Given the description of an element on the screen output the (x, y) to click on. 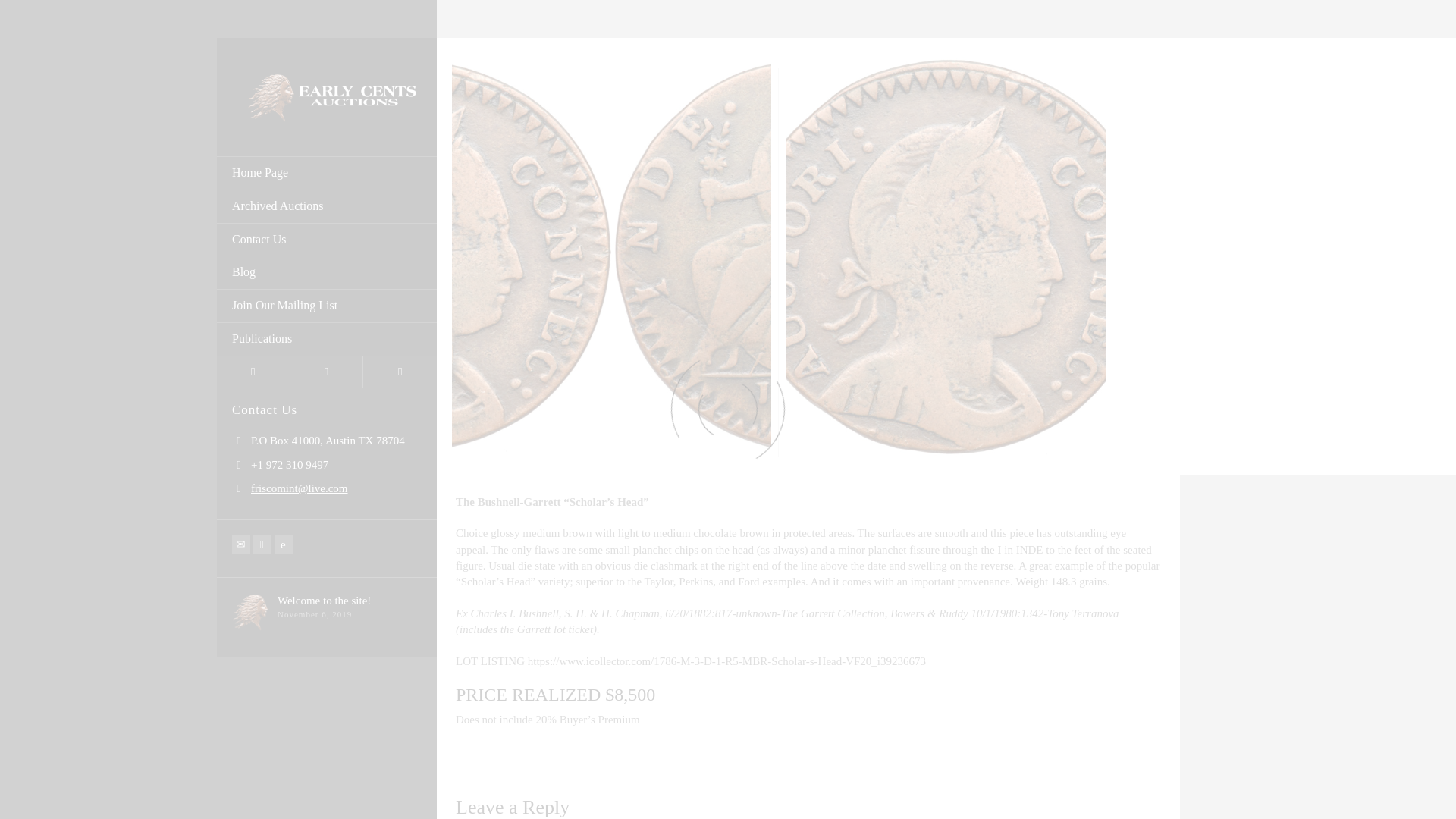
Login (252, 371)
Cart (326, 371)
Publications (326, 339)
Blog (326, 272)
Email (240, 544)
Facebook (261, 544)
Contact Us (326, 240)
Welcome to the site! (324, 600)
Join Our Mailing List (326, 305)
Welcome to the site! (324, 600)
